Given the description of an element on the screen output the (x, y) to click on. 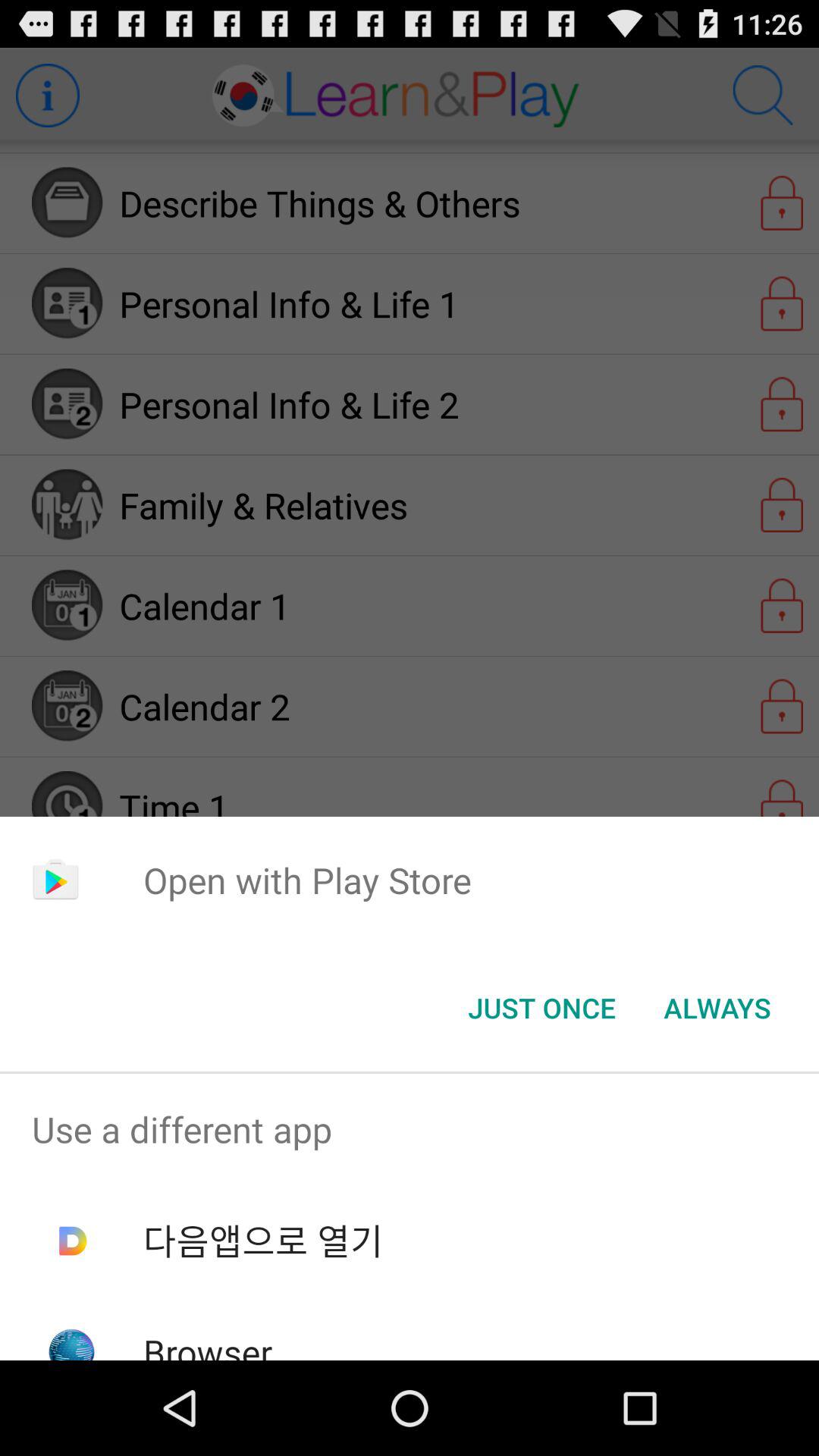
select item below use a different (263, 1240)
